Given the description of an element on the screen output the (x, y) to click on. 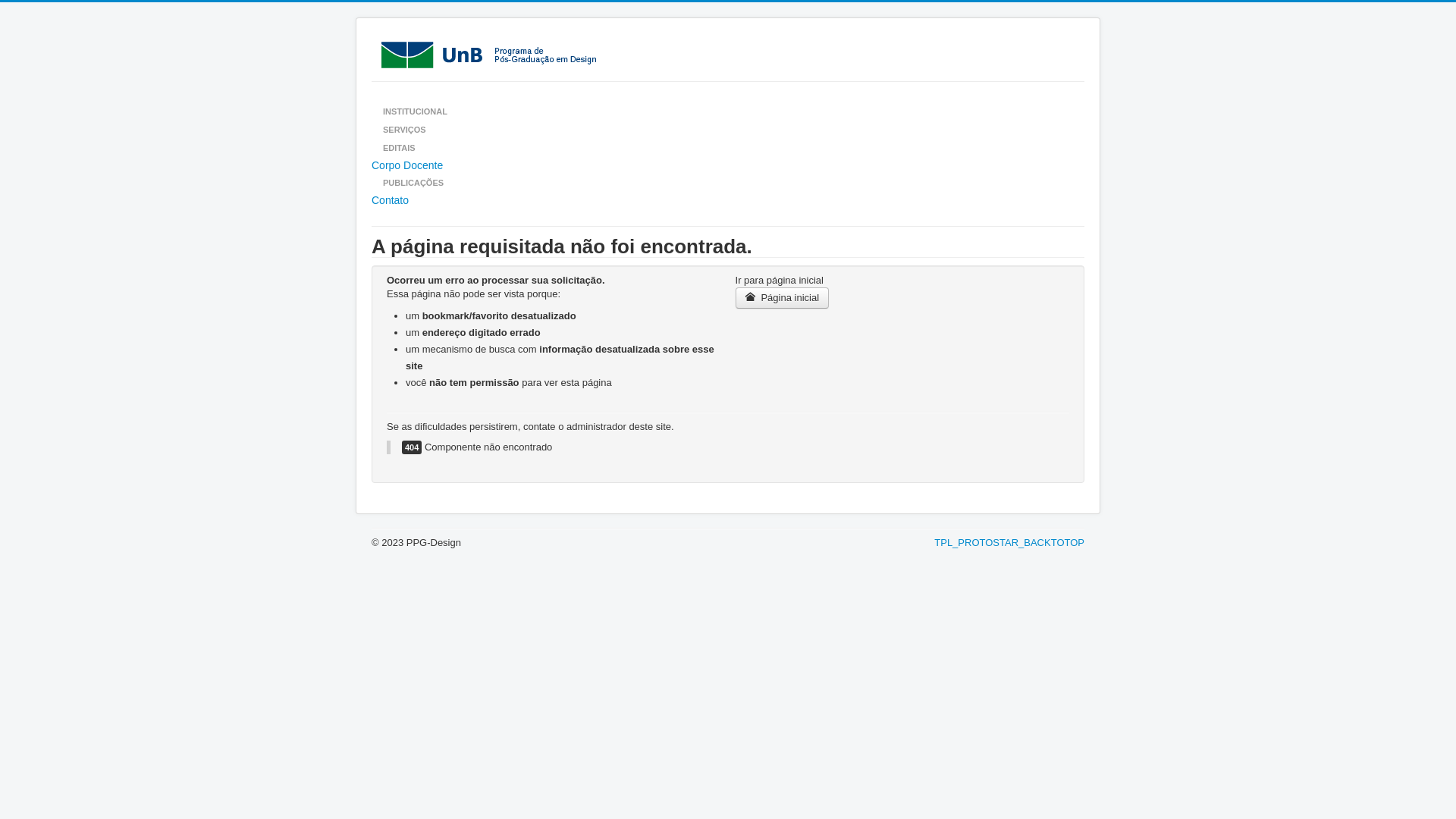
TPL_PROTOSTAR_BACKTOTOP Element type: text (1009, 542)
Corpo Docente Element type: text (727, 164)
Contato Element type: text (727, 199)
